Given the description of an element on the screen output the (x, y) to click on. 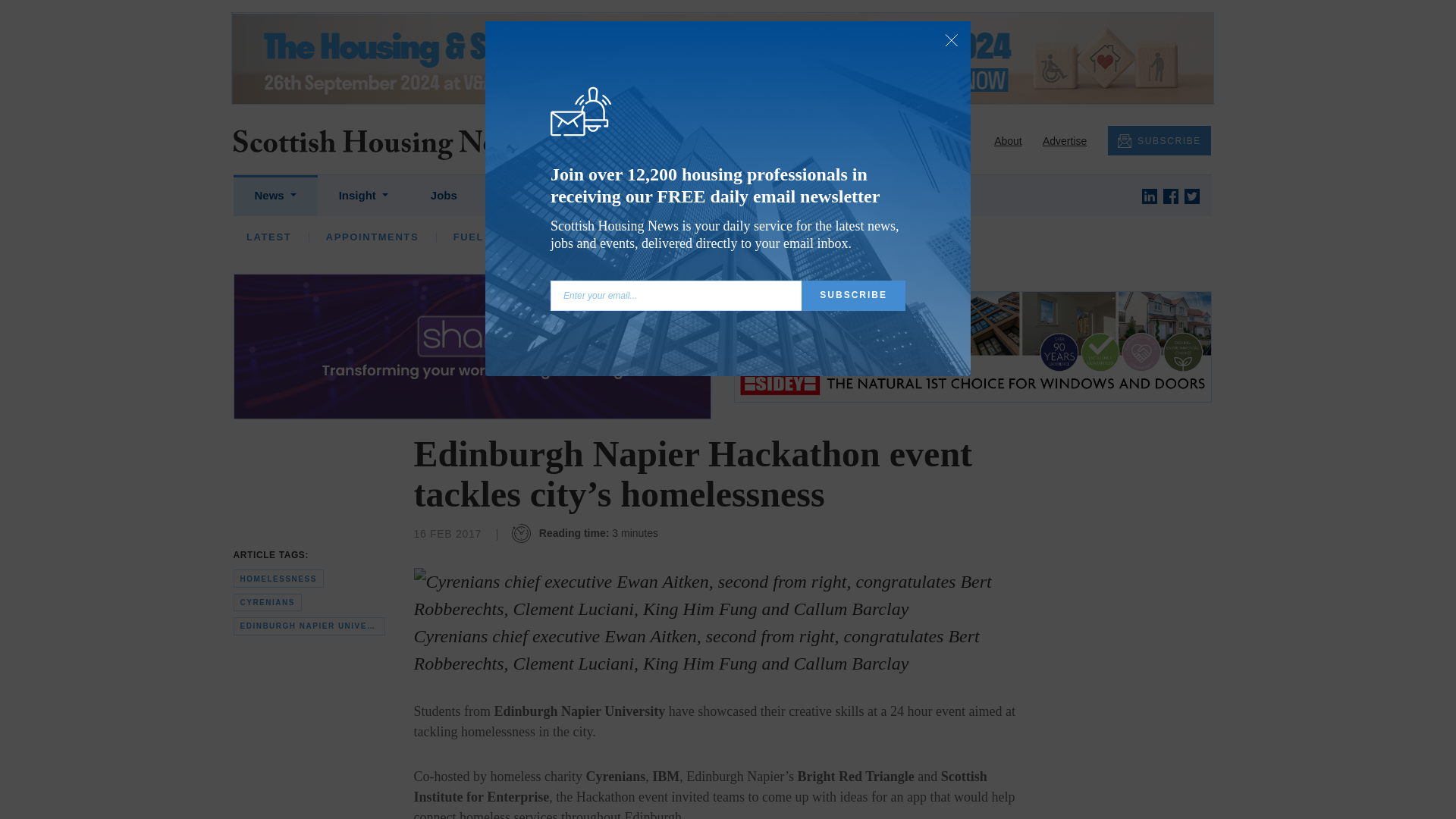
SFHA TECH COLUMN (742, 236)
LATEST (268, 236)
HOMELESSNESS (626, 236)
OPINION (350, 236)
BLACK'S BLOG (883, 236)
Podcast (601, 196)
Advertise (1064, 141)
Jobs (444, 196)
INTERVIEWS (446, 236)
OUR HOUSING HERITAGE (1035, 236)
FUEL POVERTY (497, 236)
Insight (363, 196)
SUBSCRIBE (1158, 140)
Events (518, 196)
PRS (721, 236)
